Given the description of an element on the screen output the (x, y) to click on. 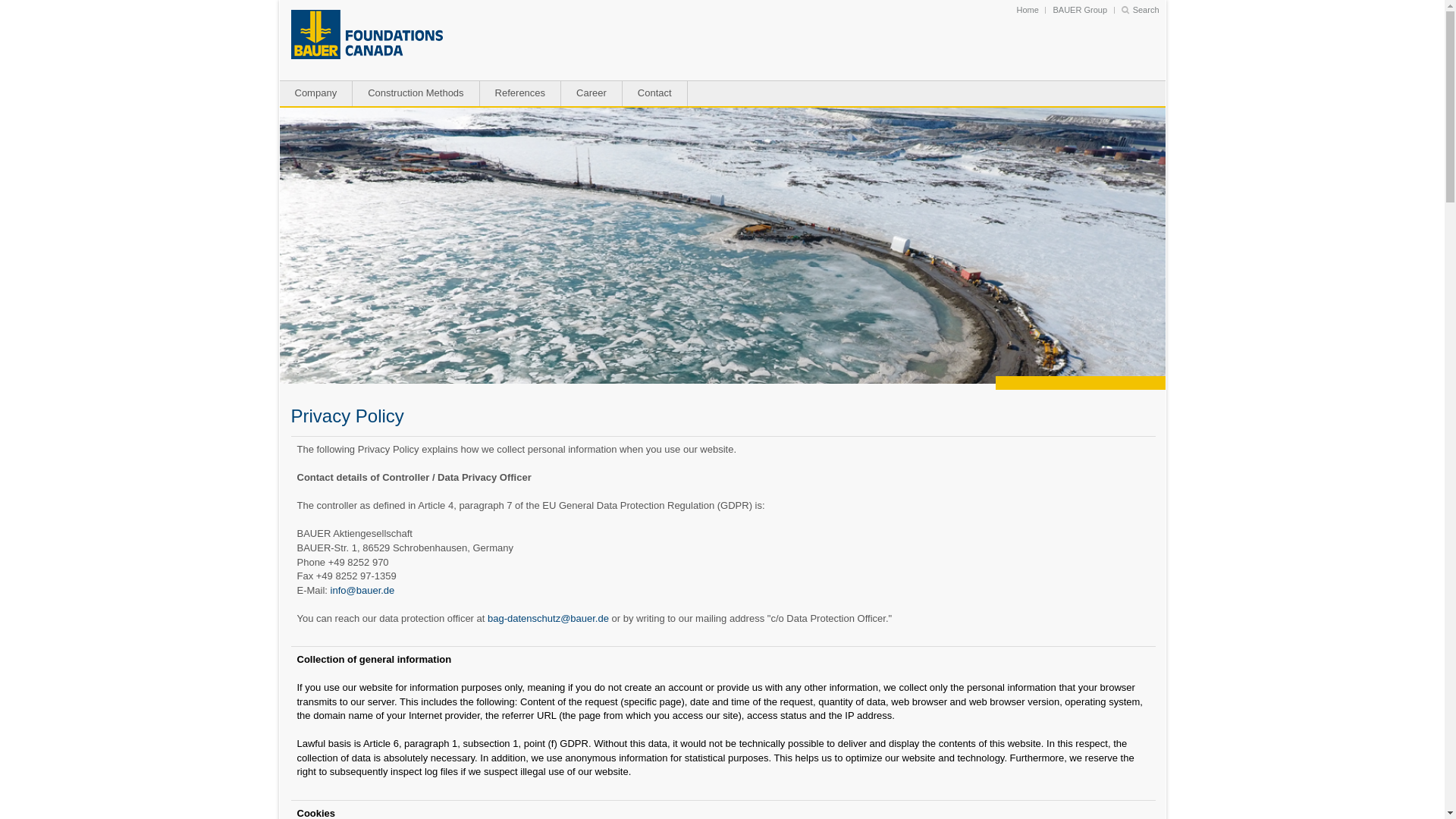
References Element type: text (520, 93)
Home Element type: text (1027, 9)
info@bauer.de Element type: text (362, 590)
Search Element type: text (1140, 9)
Career Element type: text (591, 93)
Contact Element type: text (654, 93)
bag-datenschutz@bauer.de Element type: text (547, 618)
Construction Methods Element type: text (415, 93)
BAUER Group Element type: text (1079, 9)
Company Element type: text (315, 93)
